Given the description of an element on the screen output the (x, y) to click on. 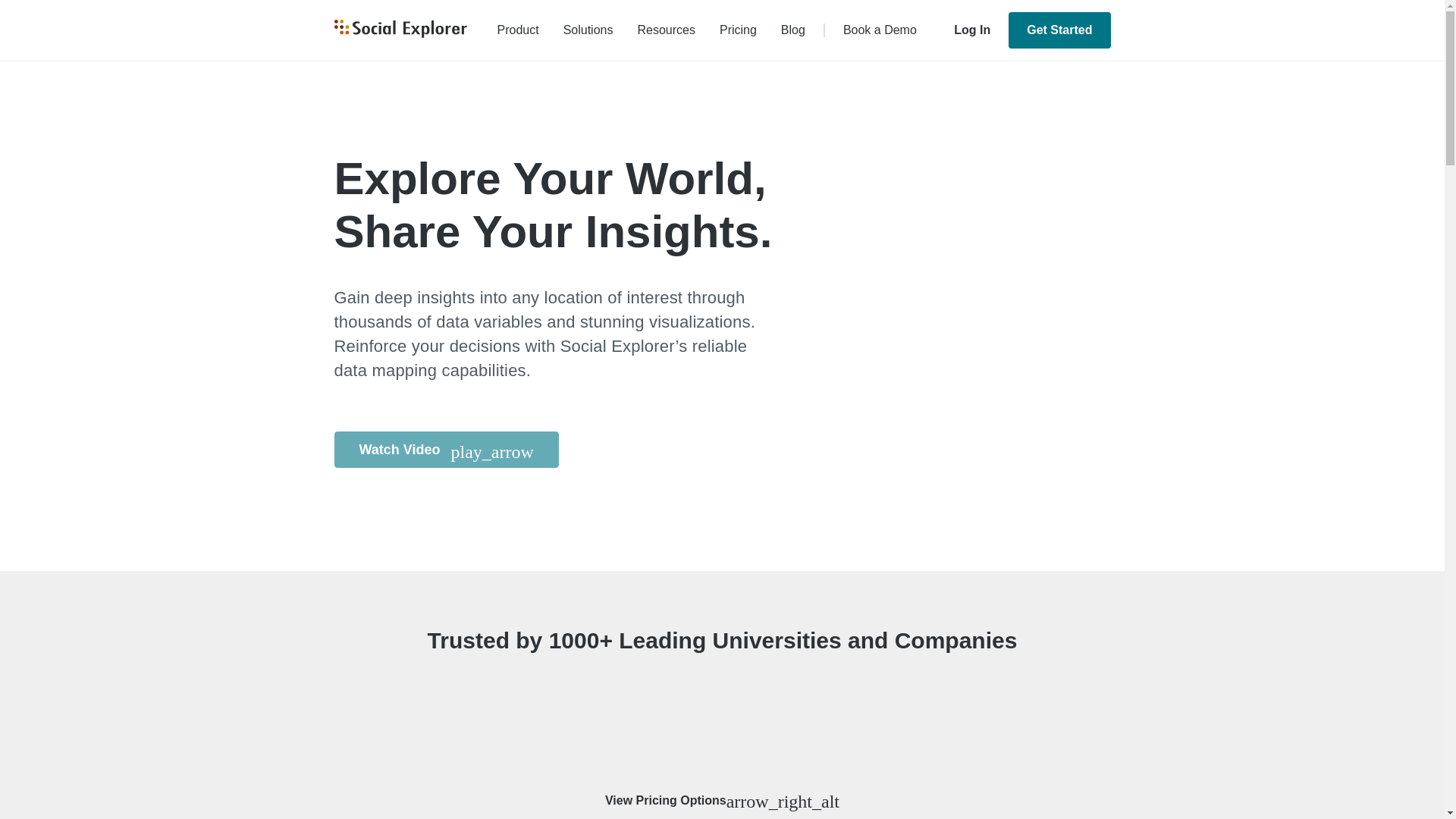
Get Started (1059, 30)
Log In (972, 30)
Blog (792, 29)
Pricing (737, 29)
Social Explorer Company (399, 29)
